Given the description of an element on the screen output the (x, y) to click on. 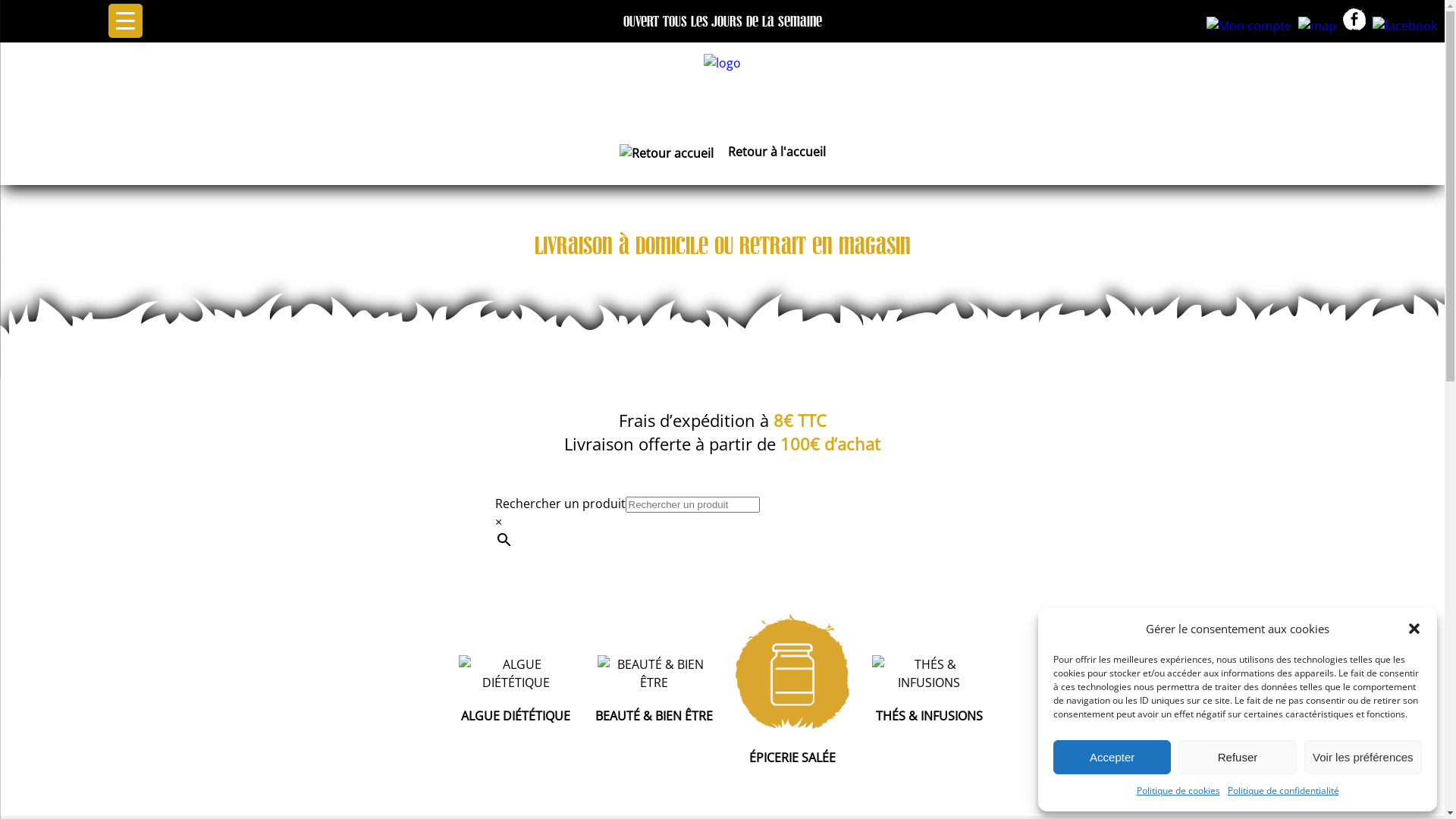
Politique de cookies Element type: text (1177, 790)
Boutique en ligne Element type: text (721, 106)
Mon compte Element type: hover (1246, 25)
Accepter Element type: text (1111, 757)
Refuser Element type: text (1236, 757)
